Given the description of an element on the screen output the (x, y) to click on. 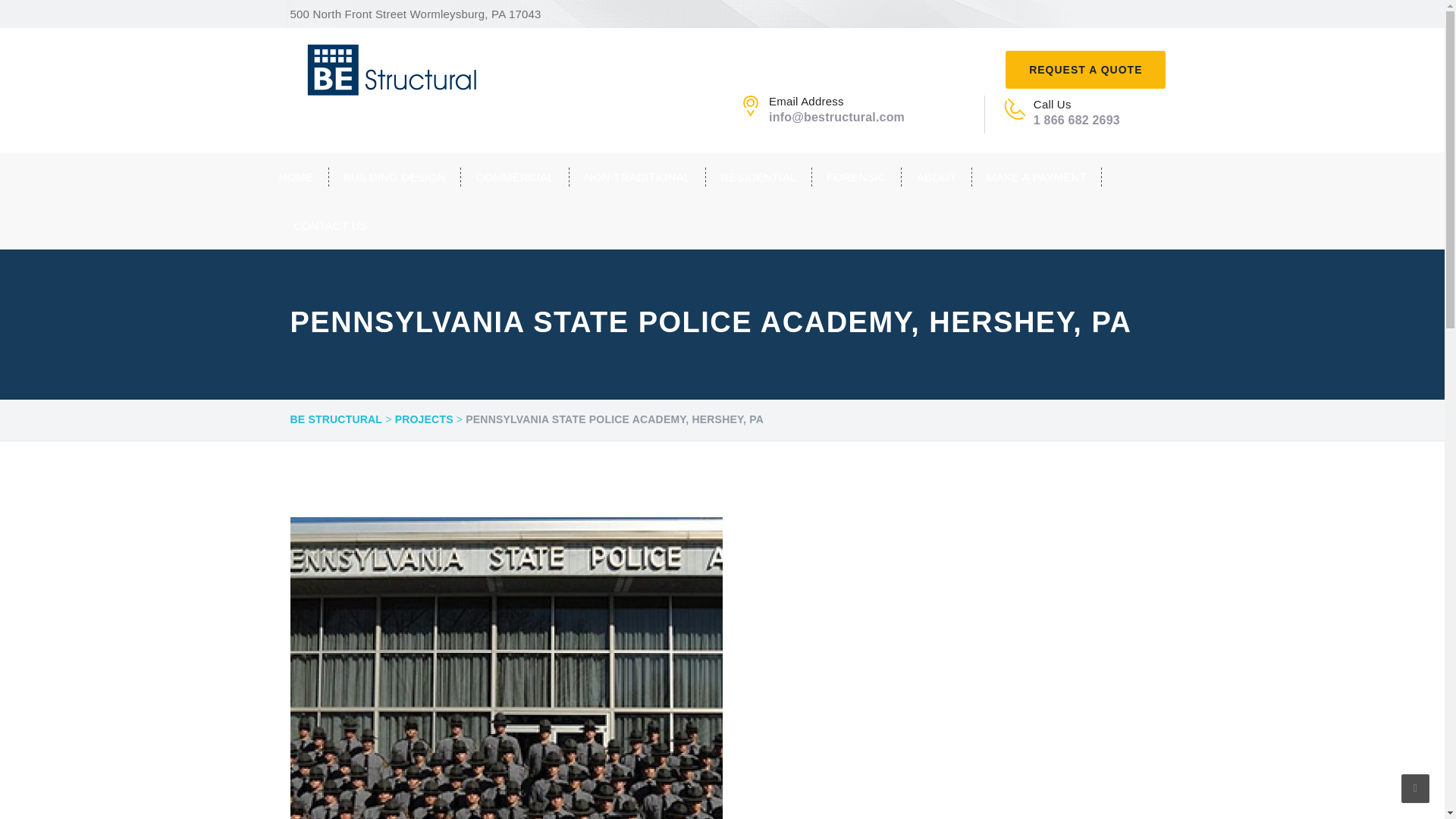
1 866 682 2693 (1076, 119)
Go to Be Structural. (335, 419)
REQUEST A QUOTE (1086, 68)
RESIDENTIAL (759, 176)
HOME (304, 176)
COMMERCIAL (515, 176)
FORENSIC (857, 176)
Be Structural (392, 69)
Go to Projects. (423, 419)
NON-TRADITIONAL (637, 176)
